Given the description of an element on the screen output the (x, y) to click on. 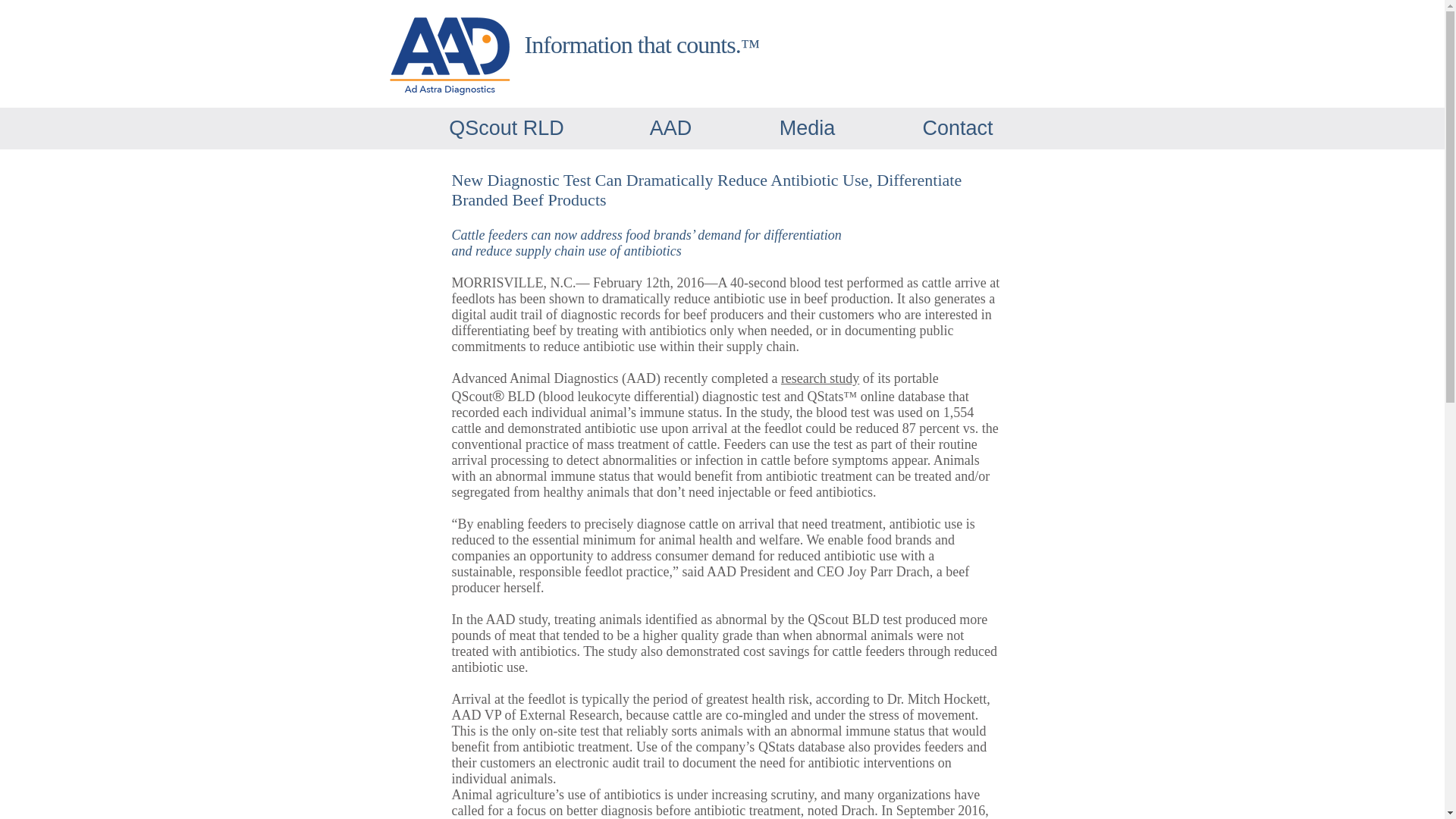
QScout RLD (506, 128)
AAD (670, 128)
research study (819, 378)
Media (807, 128)
Contact (956, 128)
